Given the description of an element on the screen output the (x, y) to click on. 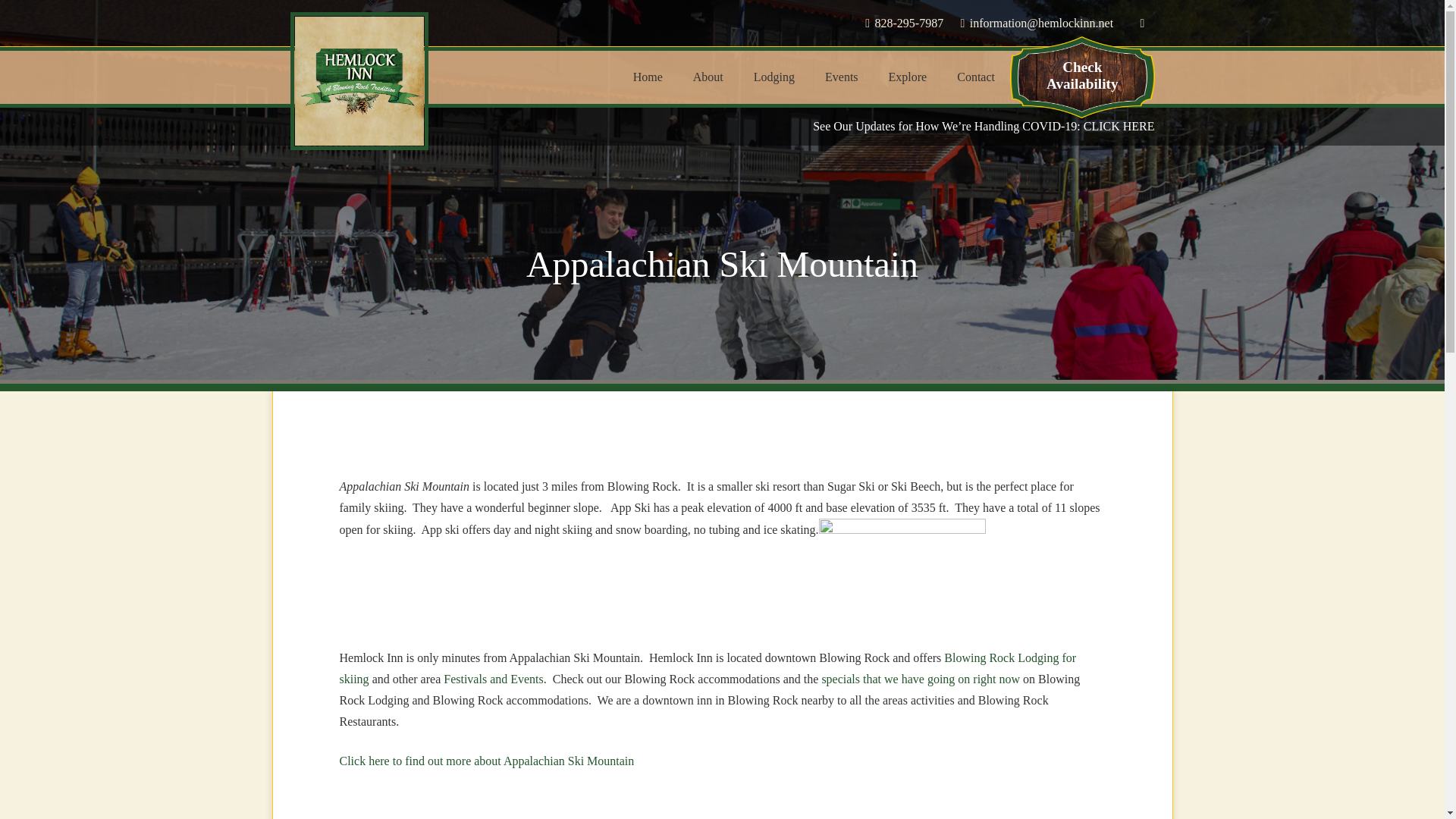
About (708, 76)
Events (841, 76)
Explore (907, 76)
828-295-7987 (903, 22)
Lodging (773, 76)
Contact (976, 76)
Home (647, 76)
Facebook (1141, 23)
Check Availability (1082, 76)
